Given the description of an element on the screen output the (x, y) to click on. 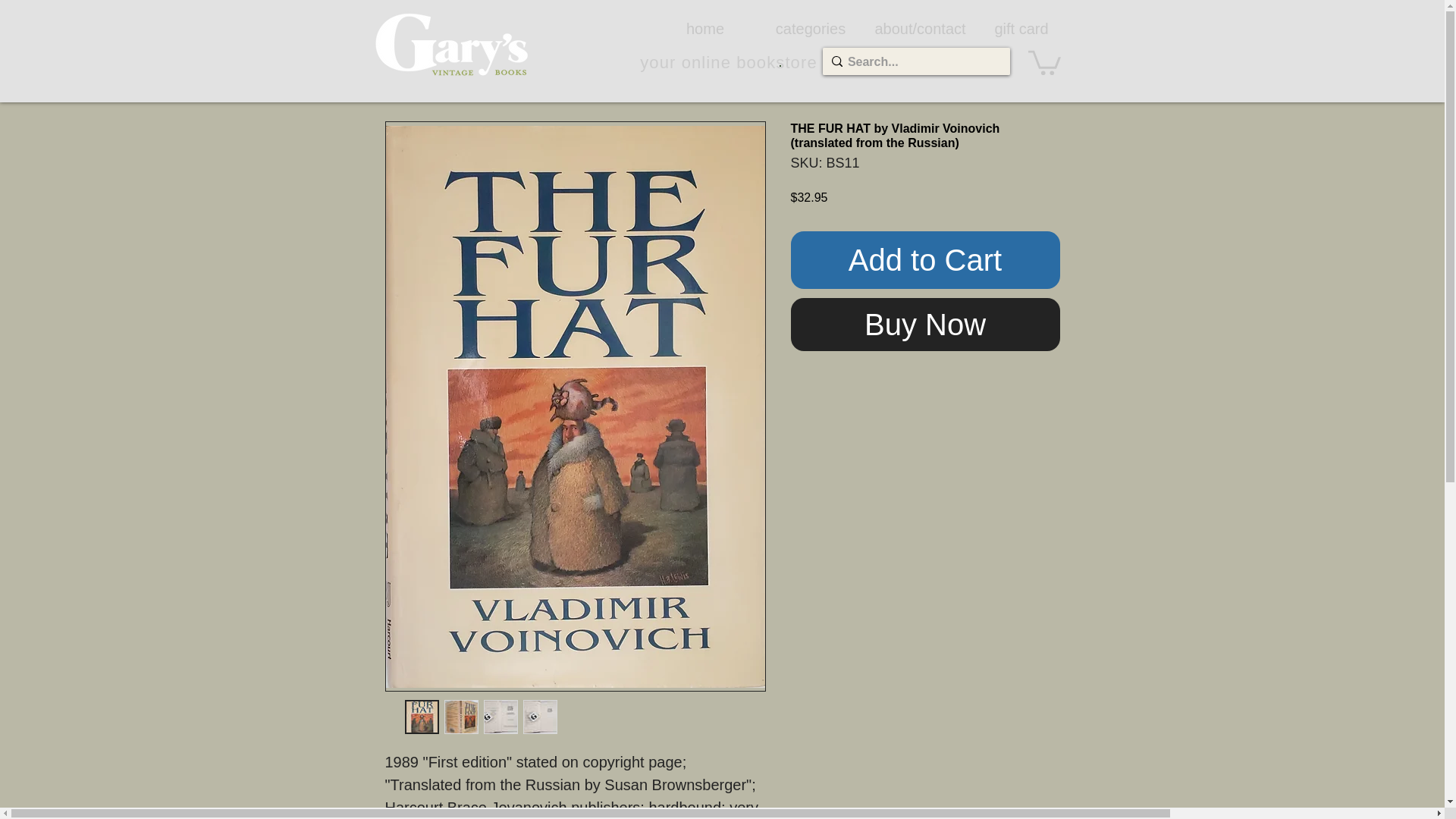
gift card (1021, 28)
home (704, 28)
Add to Cart (924, 259)
your online bookstore (728, 62)
categories (810, 28)
Buy Now (924, 324)
